Given the description of an element on the screen output the (x, y) to click on. 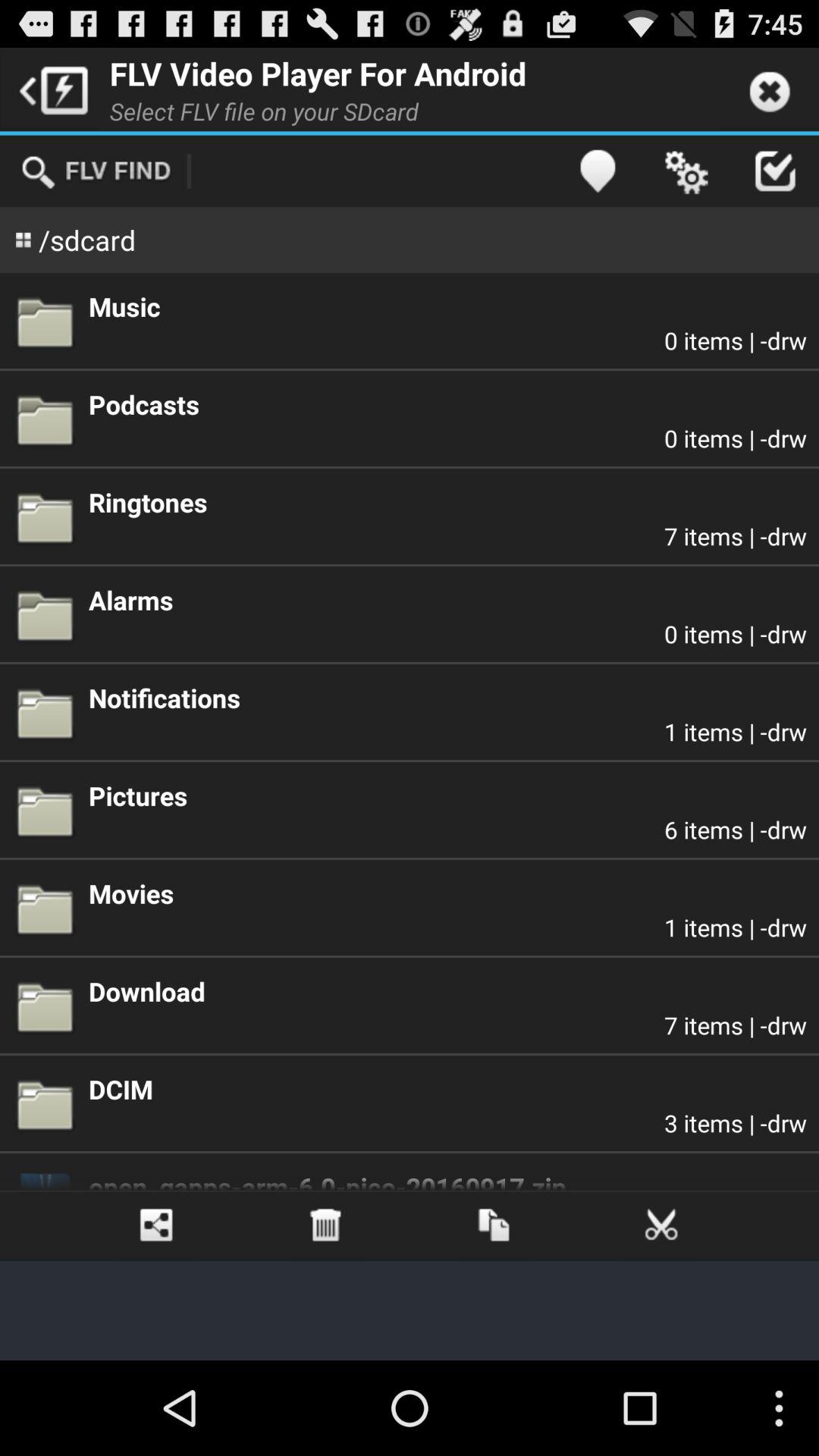
open item below 6 items | -drw item (447, 893)
